Given the description of an element on the screen output the (x, y) to click on. 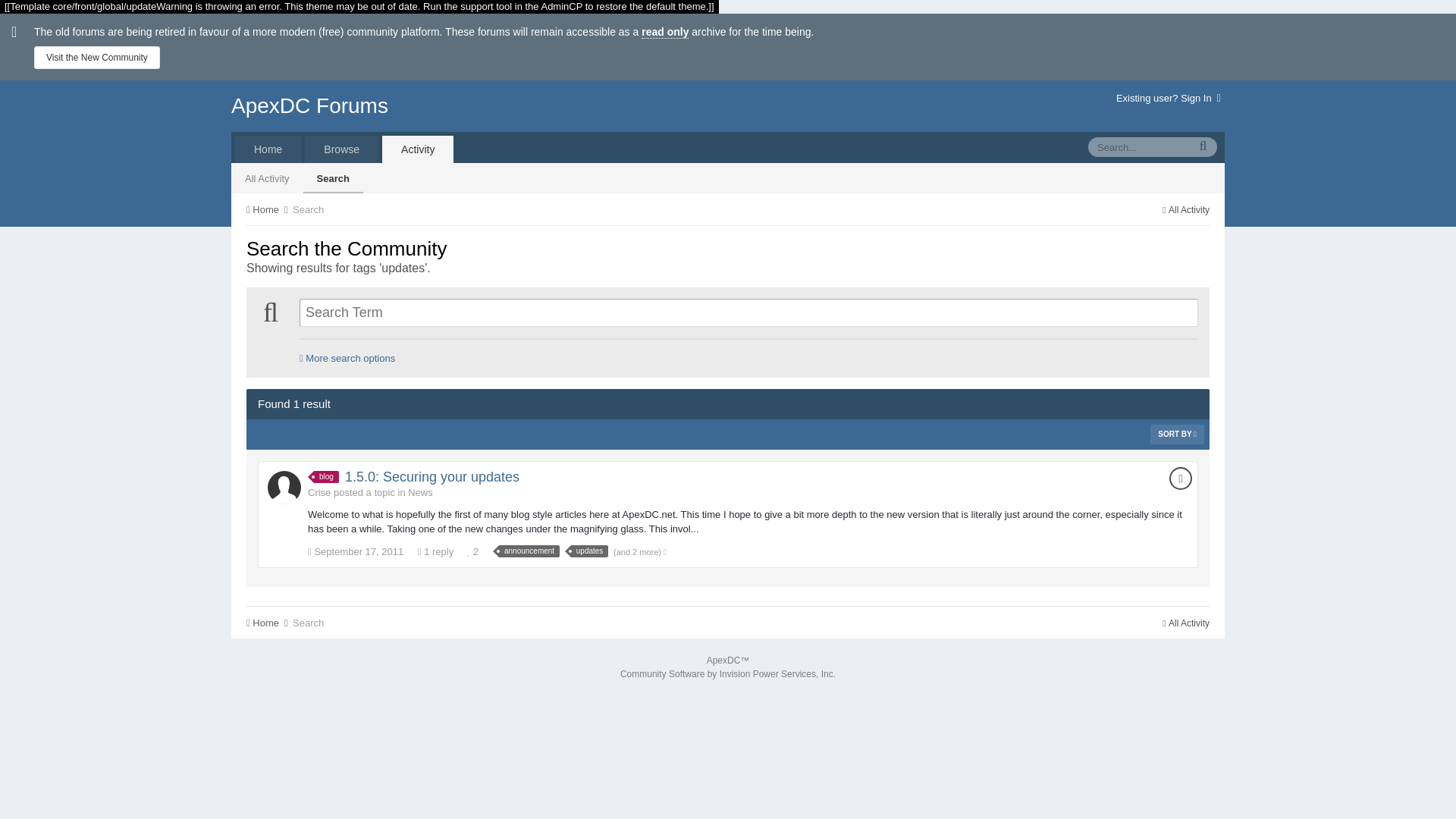
Existing user? Sign In   (1168, 98)
Search (307, 209)
Find other content tagged with 'blog' (326, 476)
Home (267, 148)
More search options (346, 357)
Topic (1180, 477)
ApexDC Forums (309, 105)
Activity (416, 148)
All Activity (266, 177)
Search (332, 177)
